Given the description of an element on the screen output the (x, y) to click on. 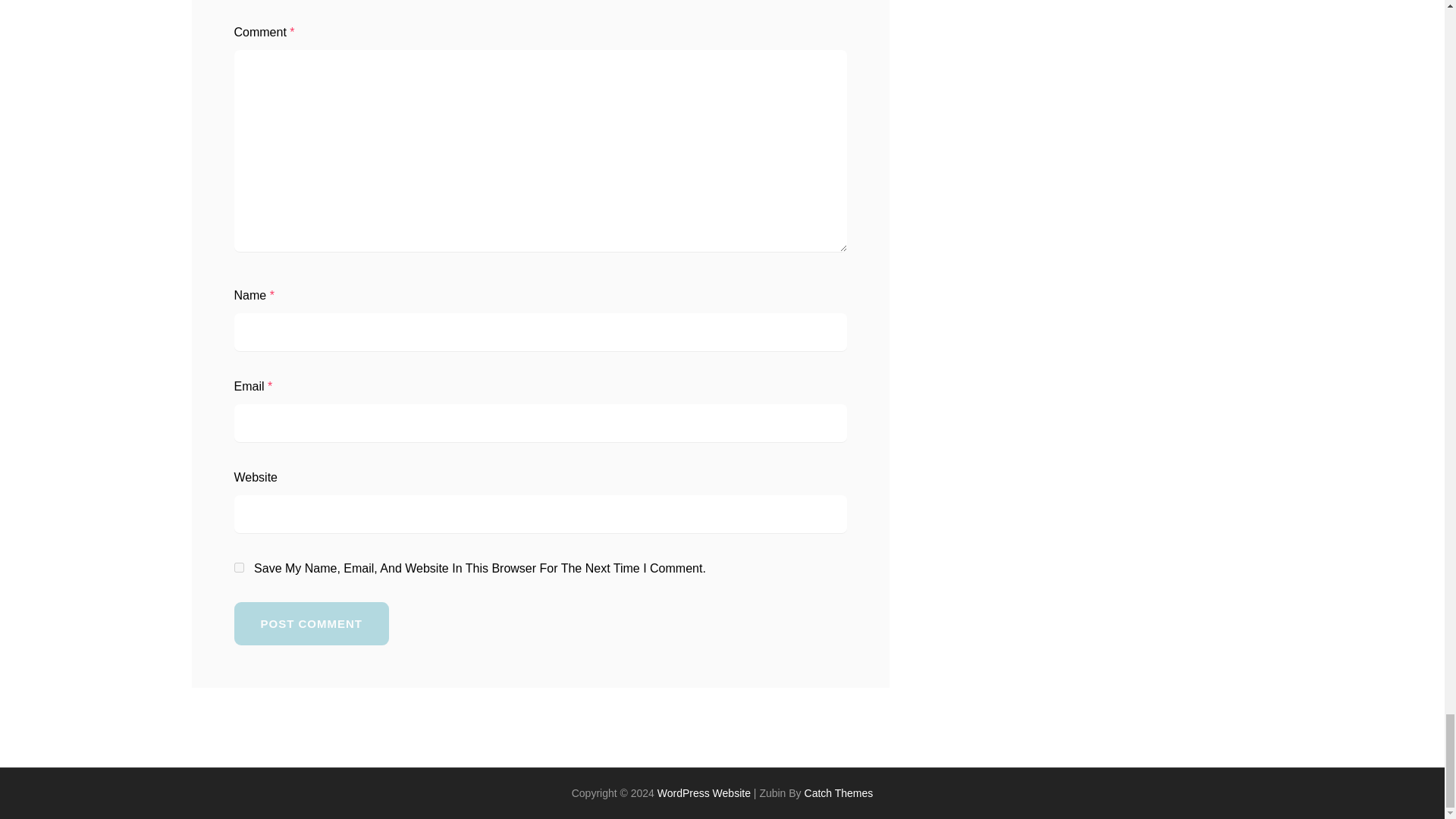
yes (237, 567)
Post Comment (310, 623)
